Given the description of an element on the screen output the (x, y) to click on. 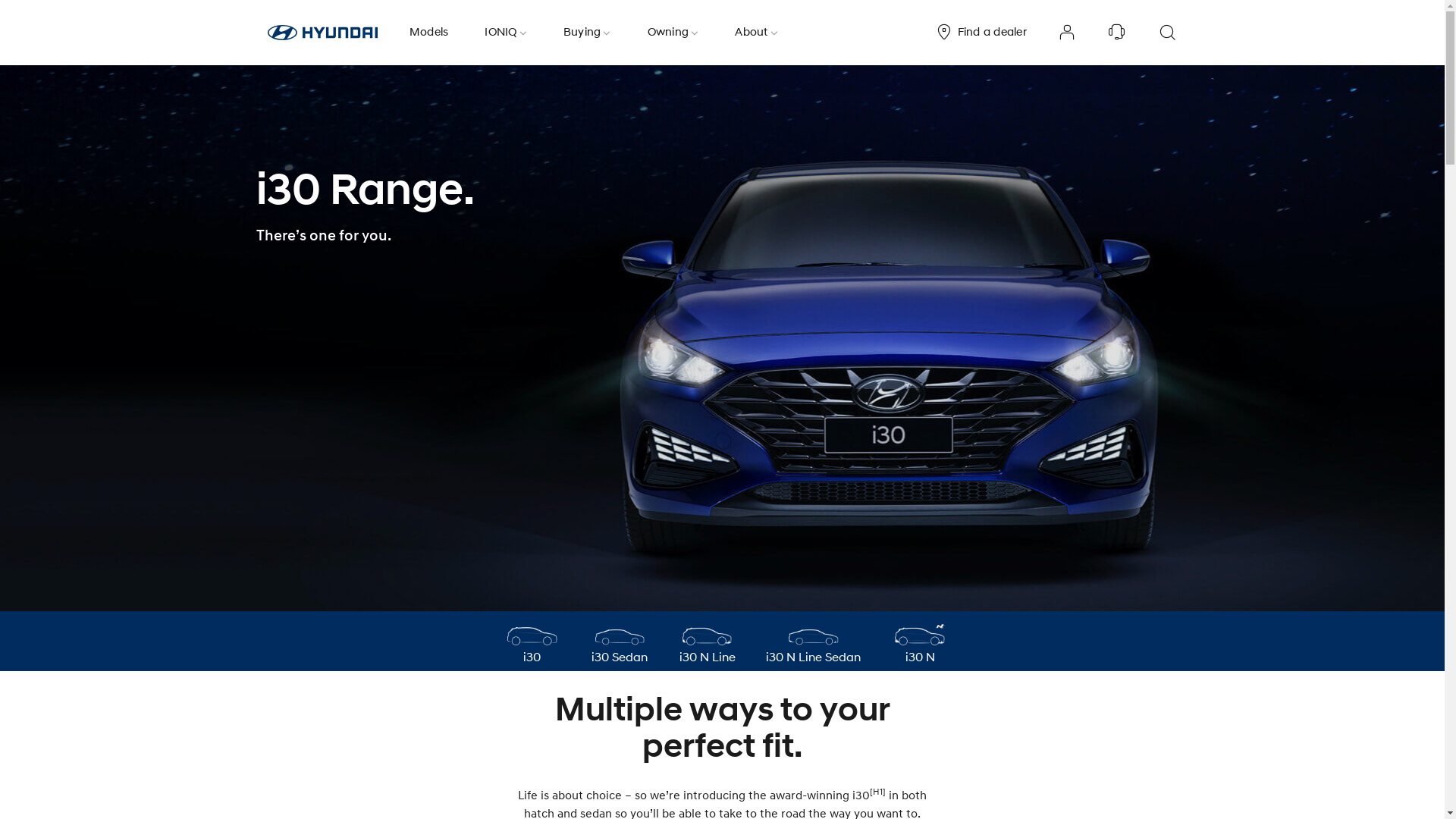
i30 Element type: text (531, 639)
Buying Element type: text (586, 32)
About Element type: text (756, 32)
Owning Element type: text (673, 32)
i30 N Element type: text (919, 639)
Find a dealer Element type: text (980, 32)
IONIQ Element type: text (505, 32)
i30 N Line Sedan Element type: text (812, 639)
Contact us Element type: hover (1116, 32)
myHyundai Element type: hover (1066, 32)
i30 Sedan Element type: text (619, 639)
Models Element type: text (428, 32)
i30 N Line Element type: text (706, 639)
